Given the description of an element on the screen output the (x, y) to click on. 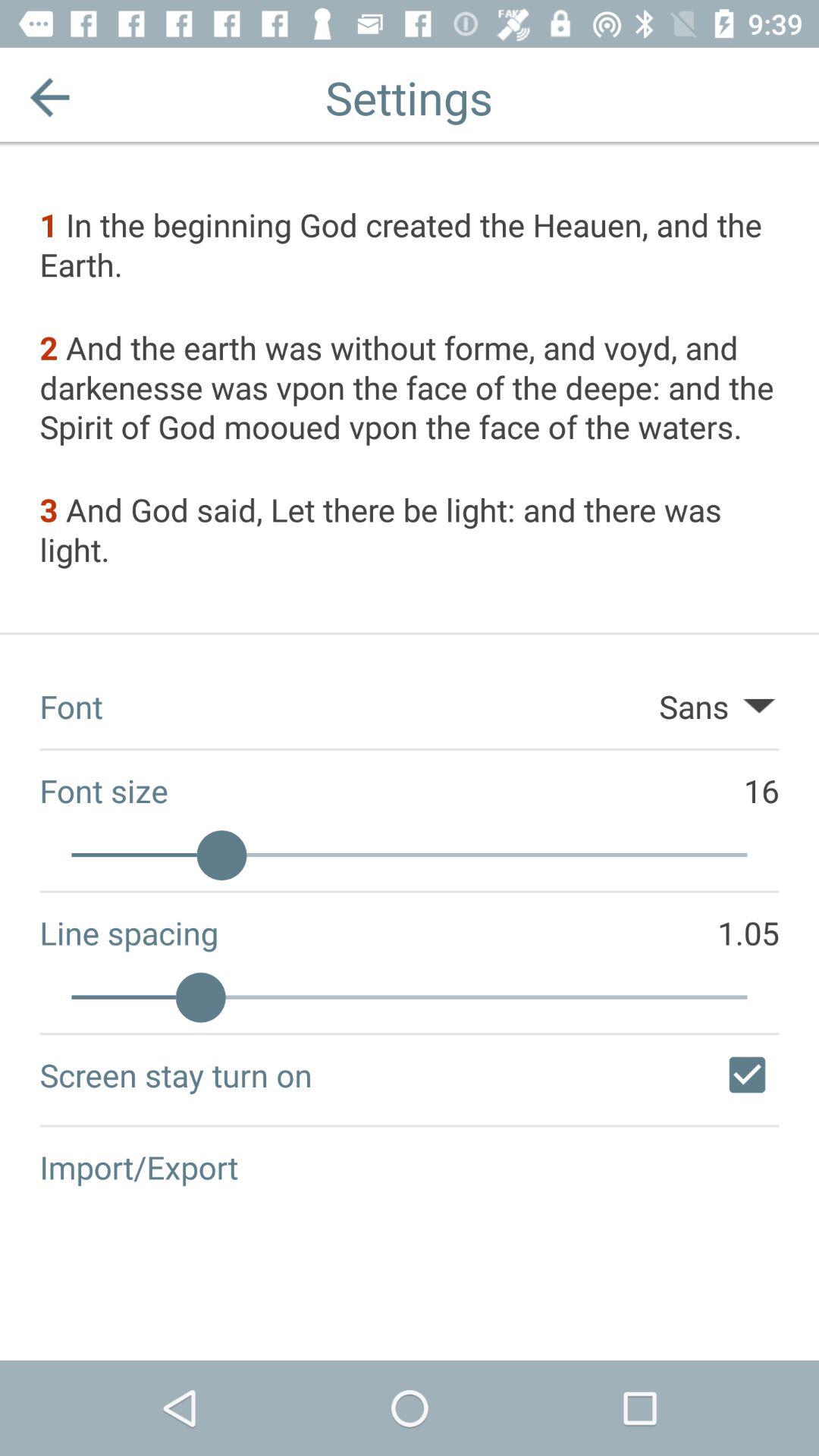
choose the icon next to the screen stay turn (747, 1074)
